Given the description of an element on the screen output the (x, y) to click on. 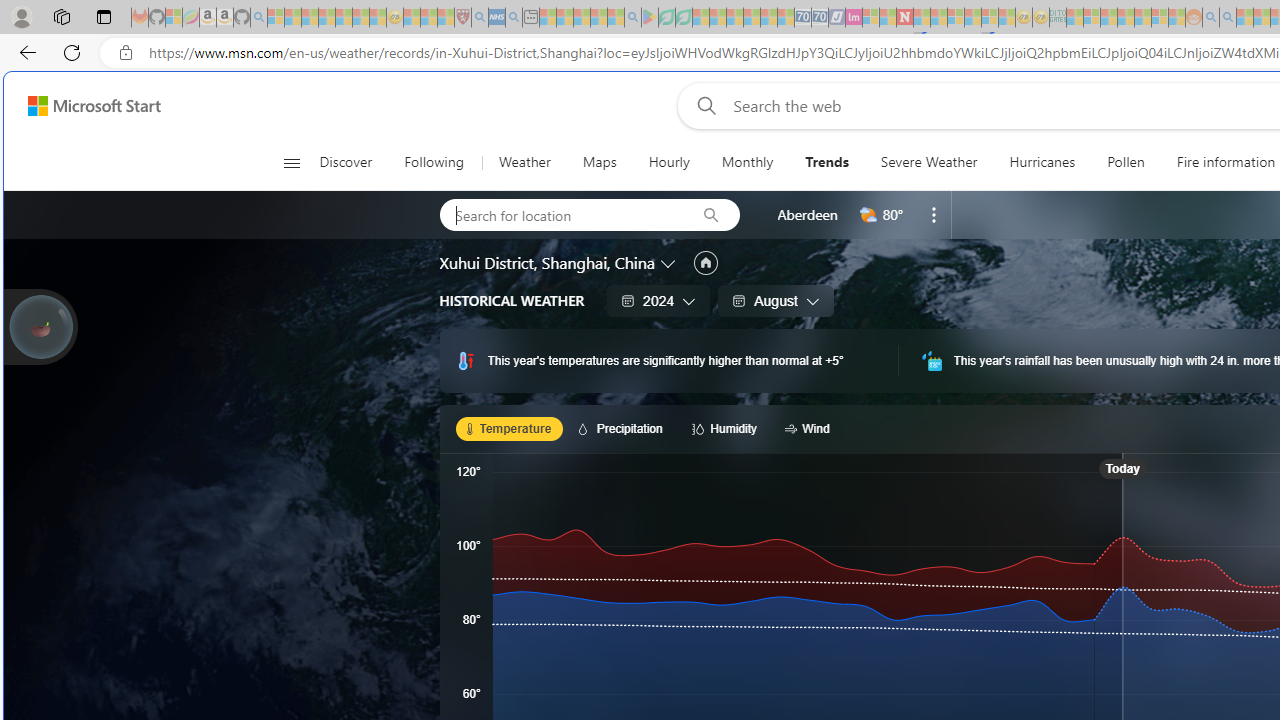
Precipitation (623, 428)
Trends (826, 162)
